Given the description of an element on the screen output the (x, y) to click on. 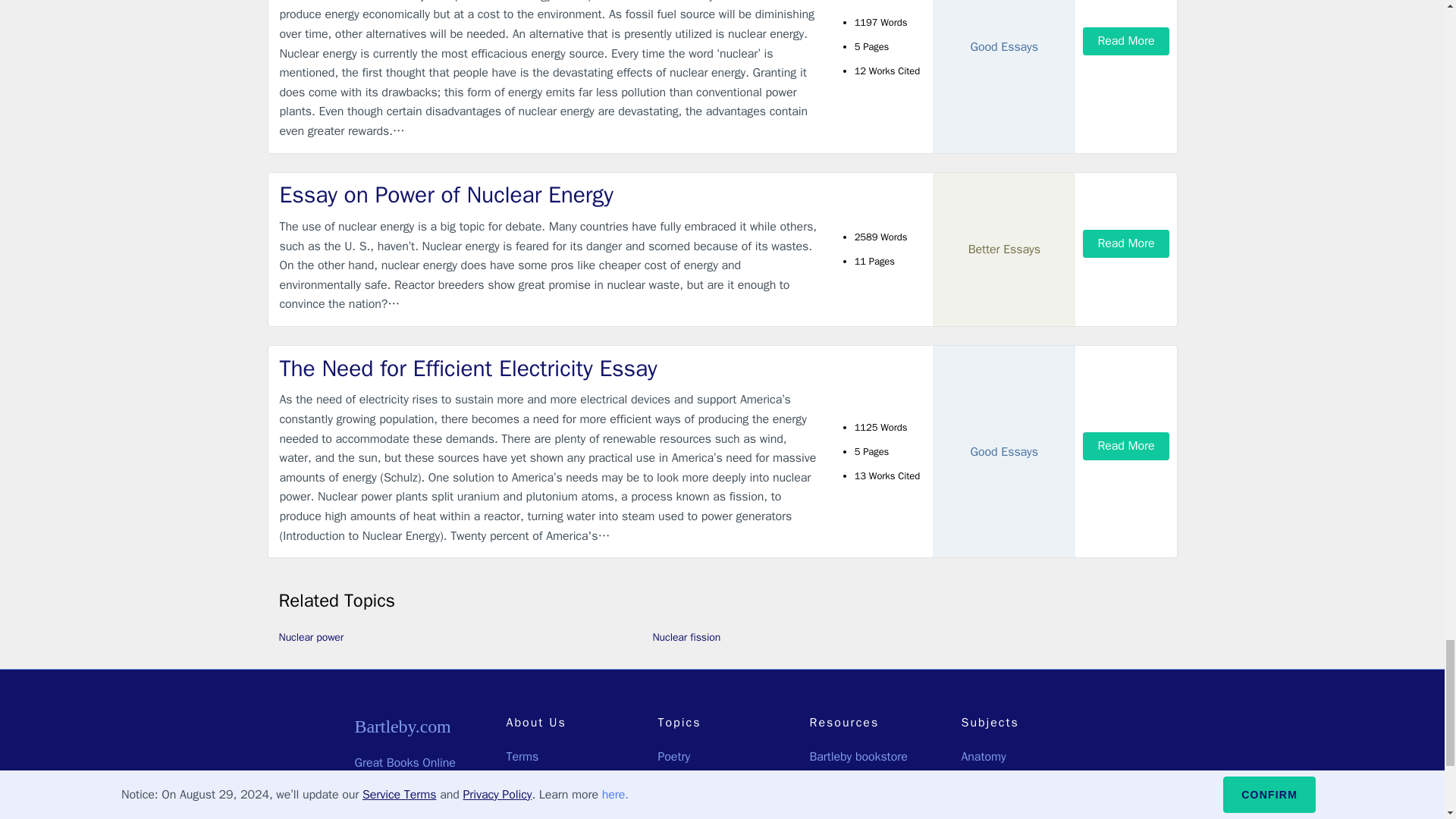
Nuclear fission (686, 636)
Nuclear power (311, 636)
